Given the description of an element on the screen output the (x, y) to click on. 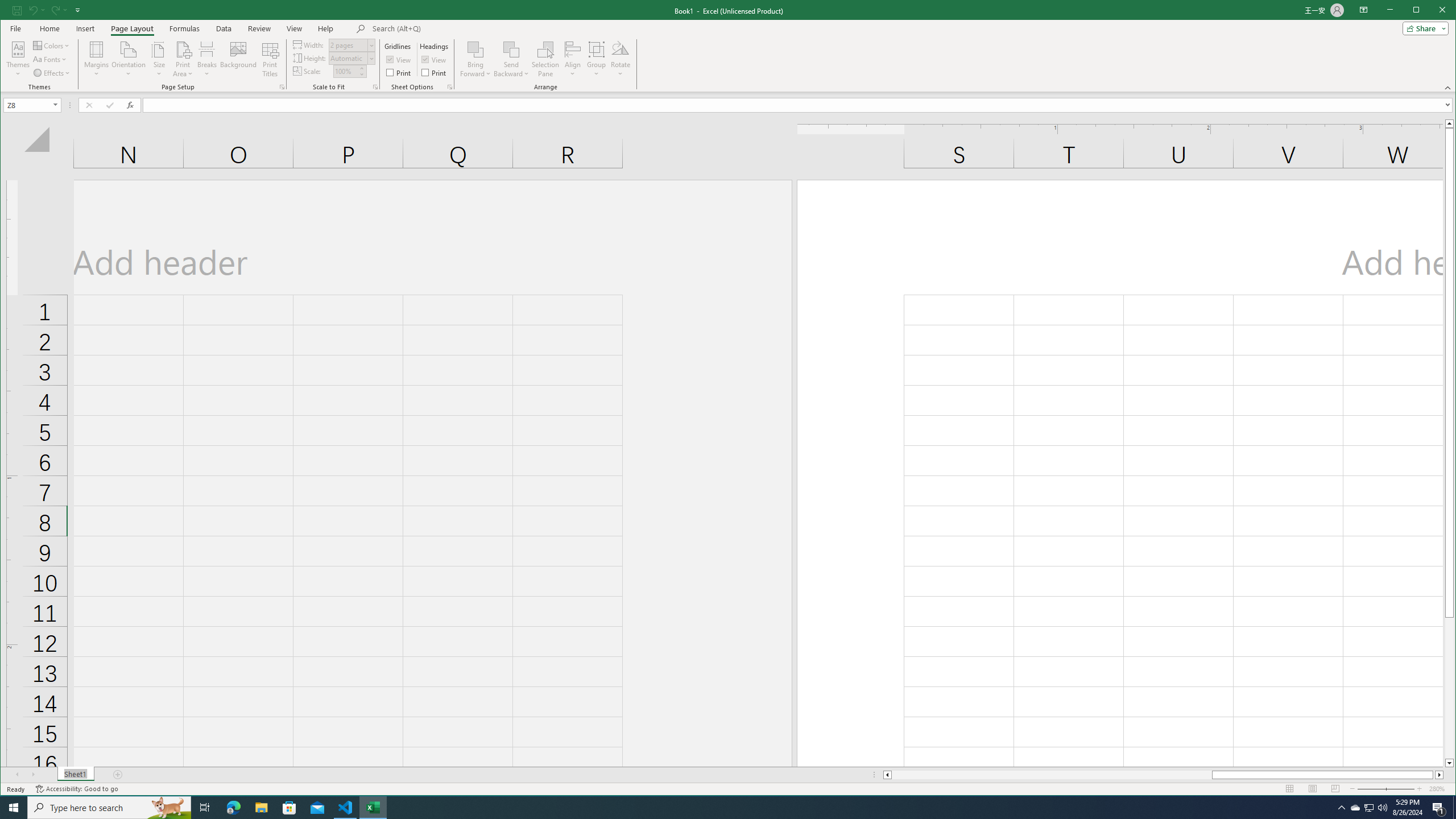
Colors (51, 45)
Scale (344, 71)
Fonts (49, 59)
Maximize (1432, 11)
Align (572, 59)
Themes (17, 59)
Action Center, 1 new notification (1439, 807)
